Given the description of an element on the screen output the (x, y) to click on. 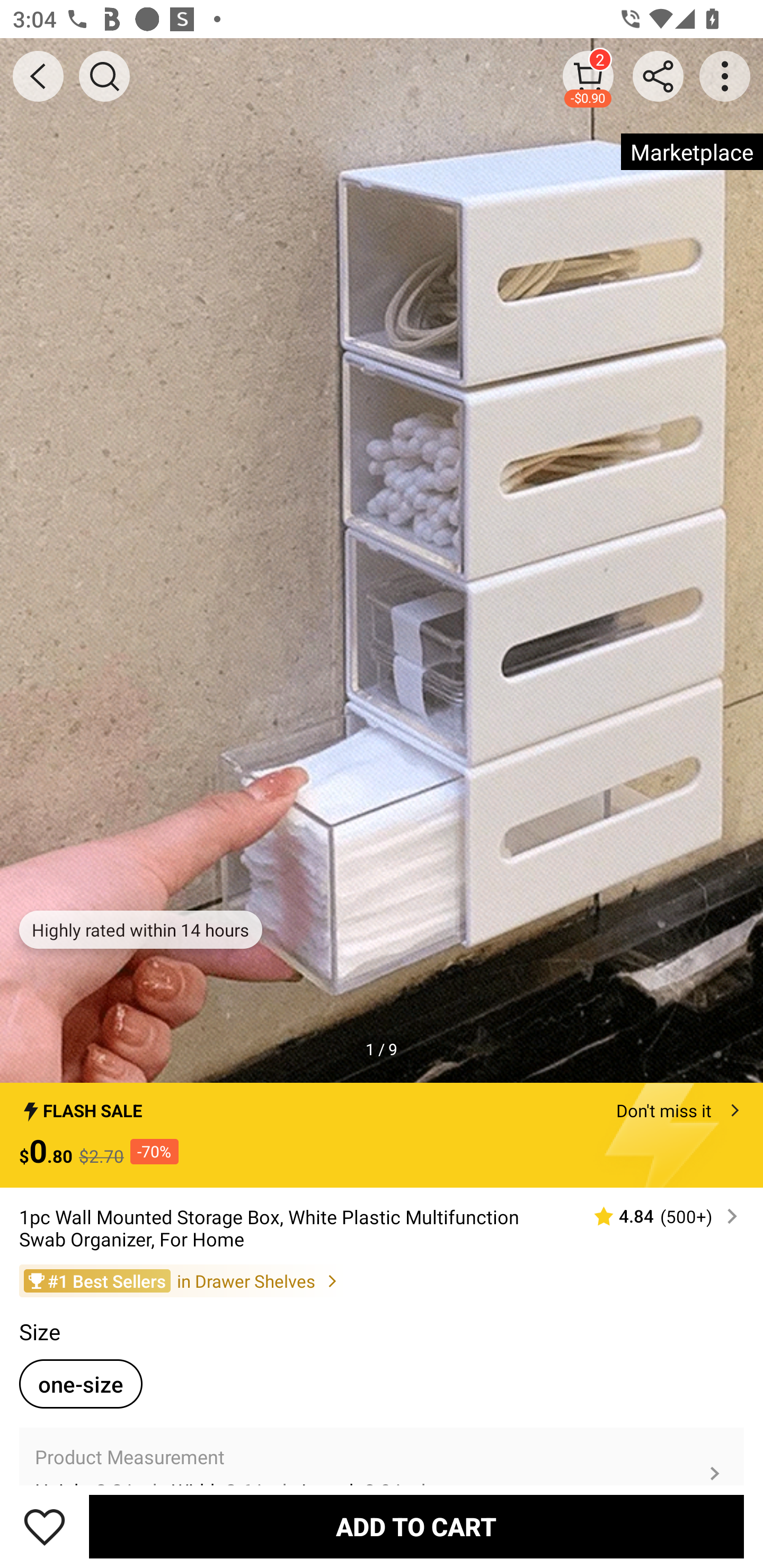
BACK (38, 75)
2 -$0.90 (588, 75)
1 / 9 (381, 1048)
FLASH SALE Don't miss it $0.80 $2.70 -70% (381, 1134)
FLASH SALE Don't miss it (381, 1105)
4.84 (500‎+) (658, 1216)
#1 Best Sellers in Drawer Shelves (381, 1279)
Size (39, 1331)
one-size one-sizeselected option (80, 1383)
ADD TO CART (416, 1526)
Save (44, 1526)
